Given the description of an element on the screen output the (x, y) to click on. 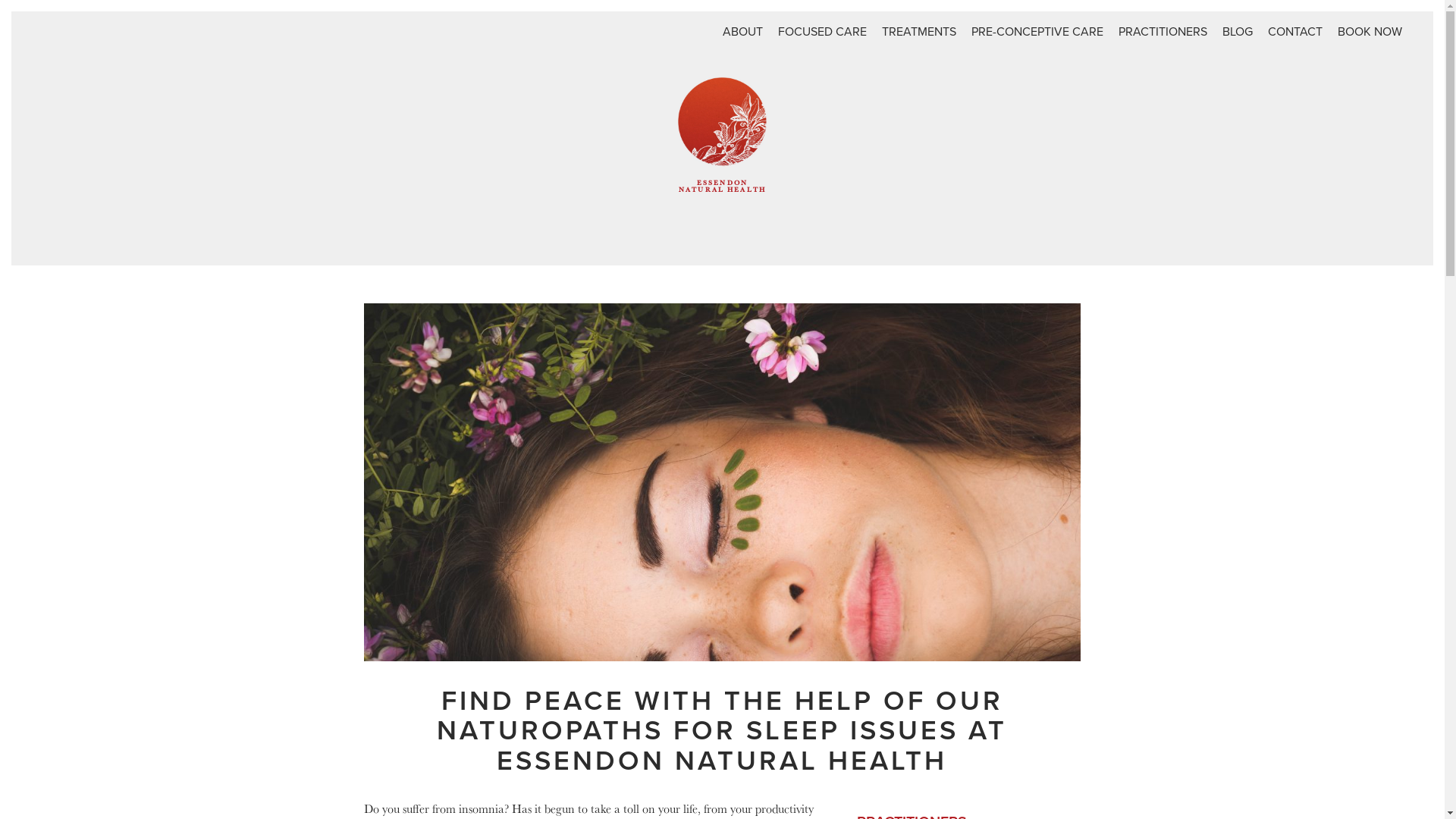
BOOK NOW Element type: text (1369, 31)
PRE-CONCEPTIVE CARE Element type: text (1037, 31)
PRACTITIONERS Element type: text (1162, 31)
ABOUT Element type: text (742, 31)
FOCUSED CARE Element type: text (822, 31)
ESSENDON NATURAL HEALTH Element type: text (721, 155)
BLOG Element type: text (1237, 31)
CONTACT Element type: text (1295, 31)
TREATMENTS Element type: text (919, 31)
